Given the description of an element on the screen output the (x, y) to click on. 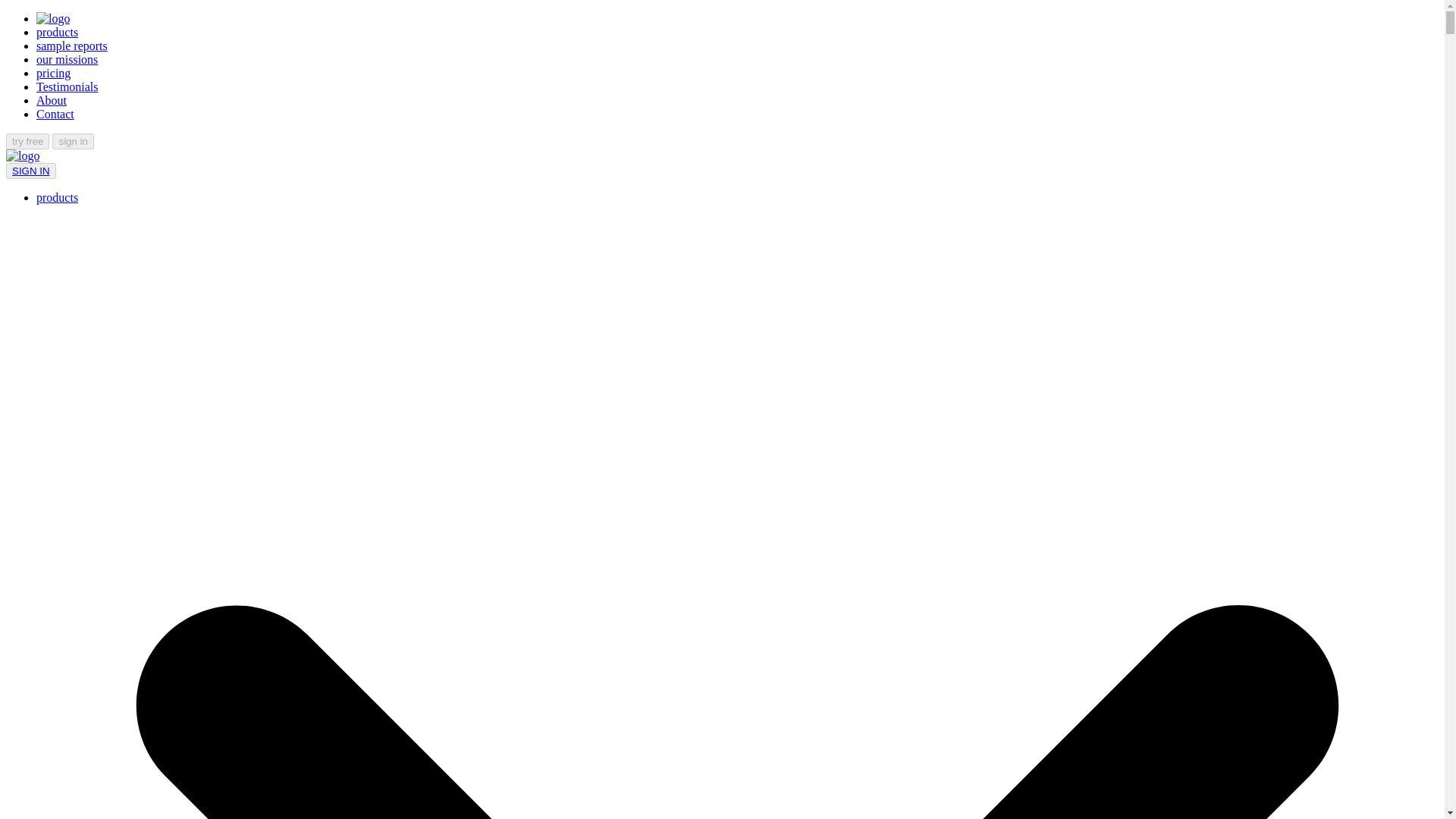
Testimonials (67, 86)
sample reports (71, 45)
About (51, 100)
our missions (66, 59)
products (57, 31)
pricing (52, 72)
